Given the description of an element on the screen output the (x, y) to click on. 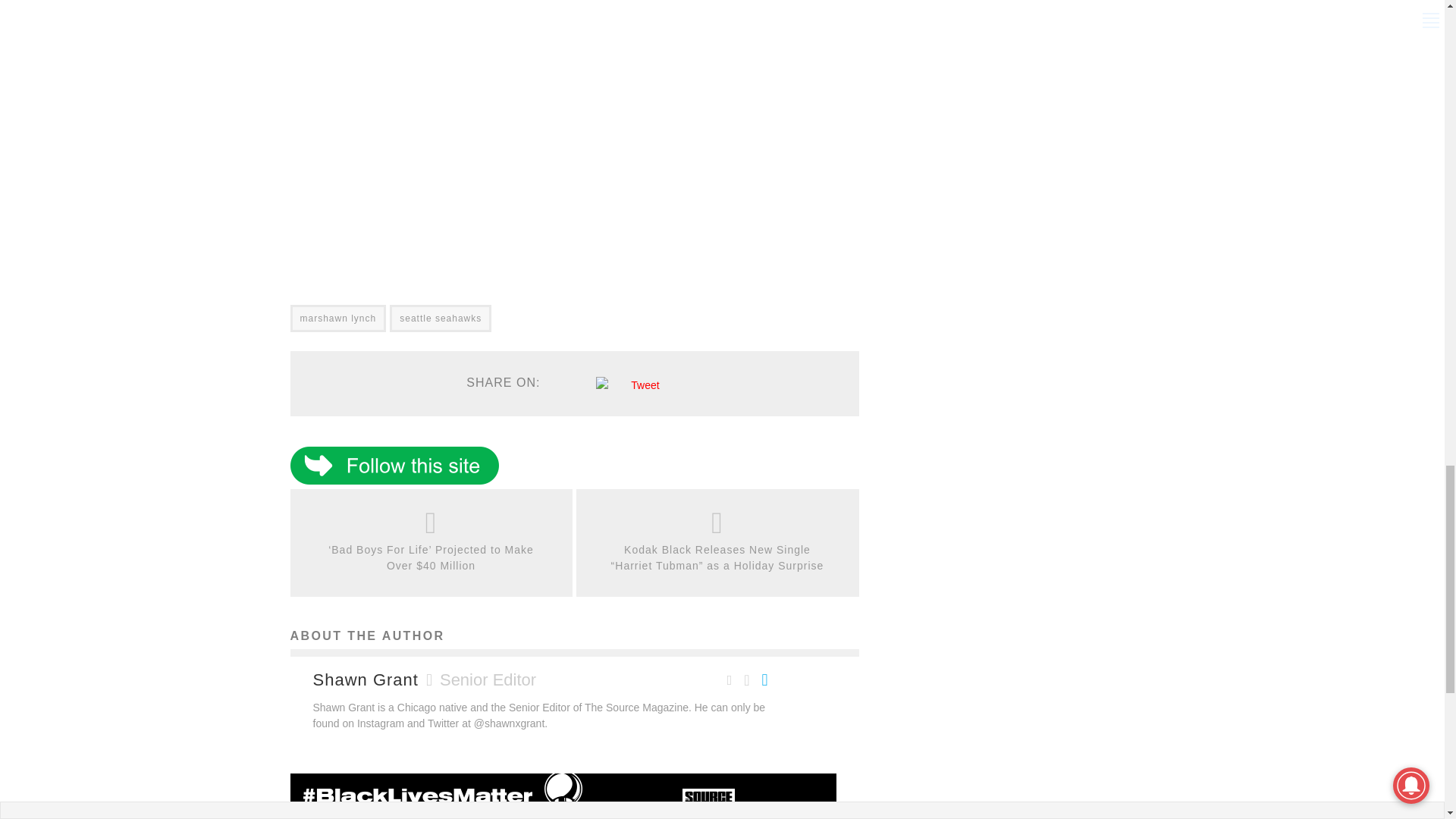
Shawn Grant (365, 679)
marshawn lynch (337, 318)
Follow.It (393, 480)
Tweet (644, 385)
seattle seahawks (441, 318)
